Given the description of an element on the screen output the (x, y) to click on. 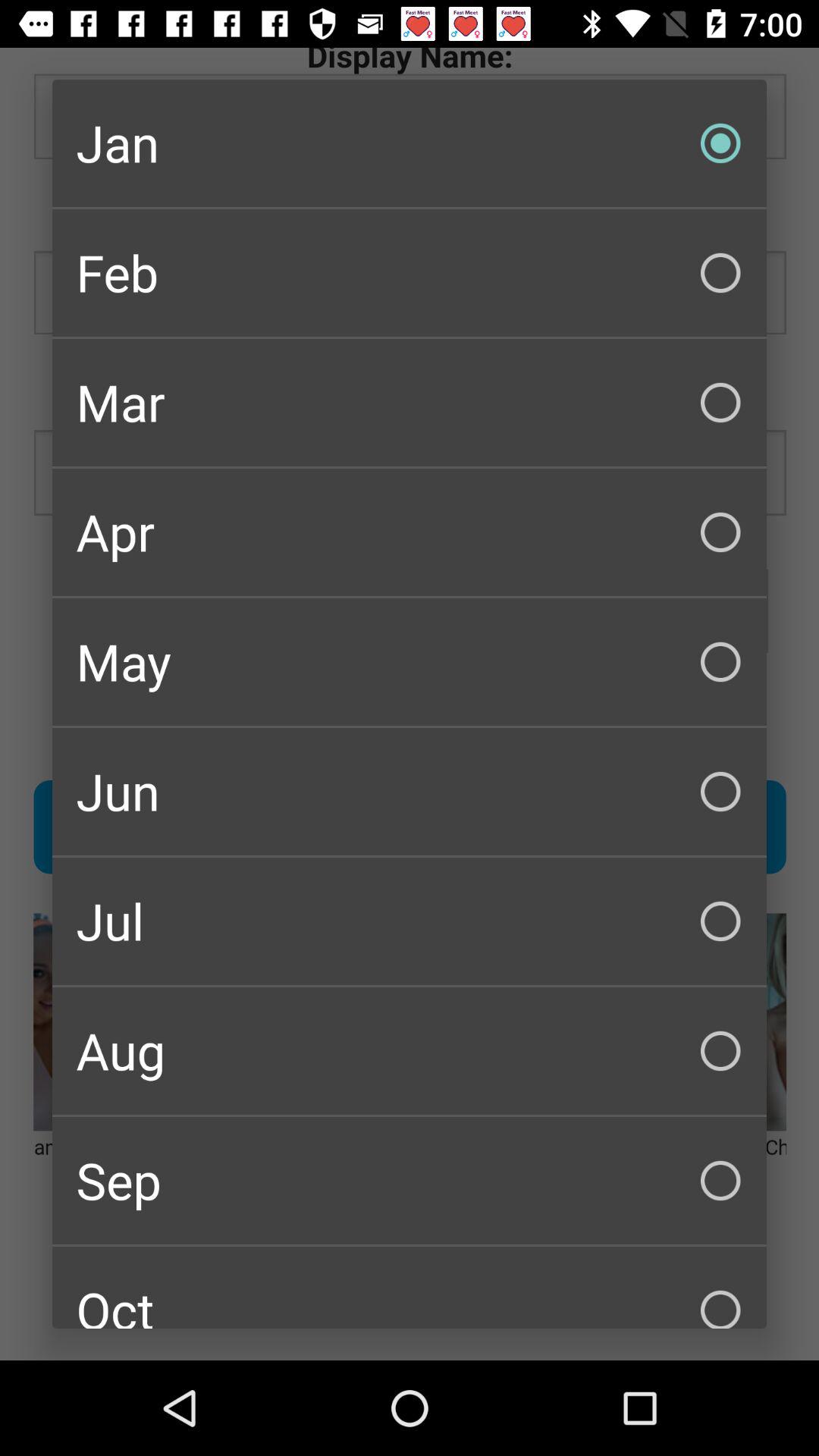
choose aug (409, 1050)
